Given the description of an element on the screen output the (x, y) to click on. 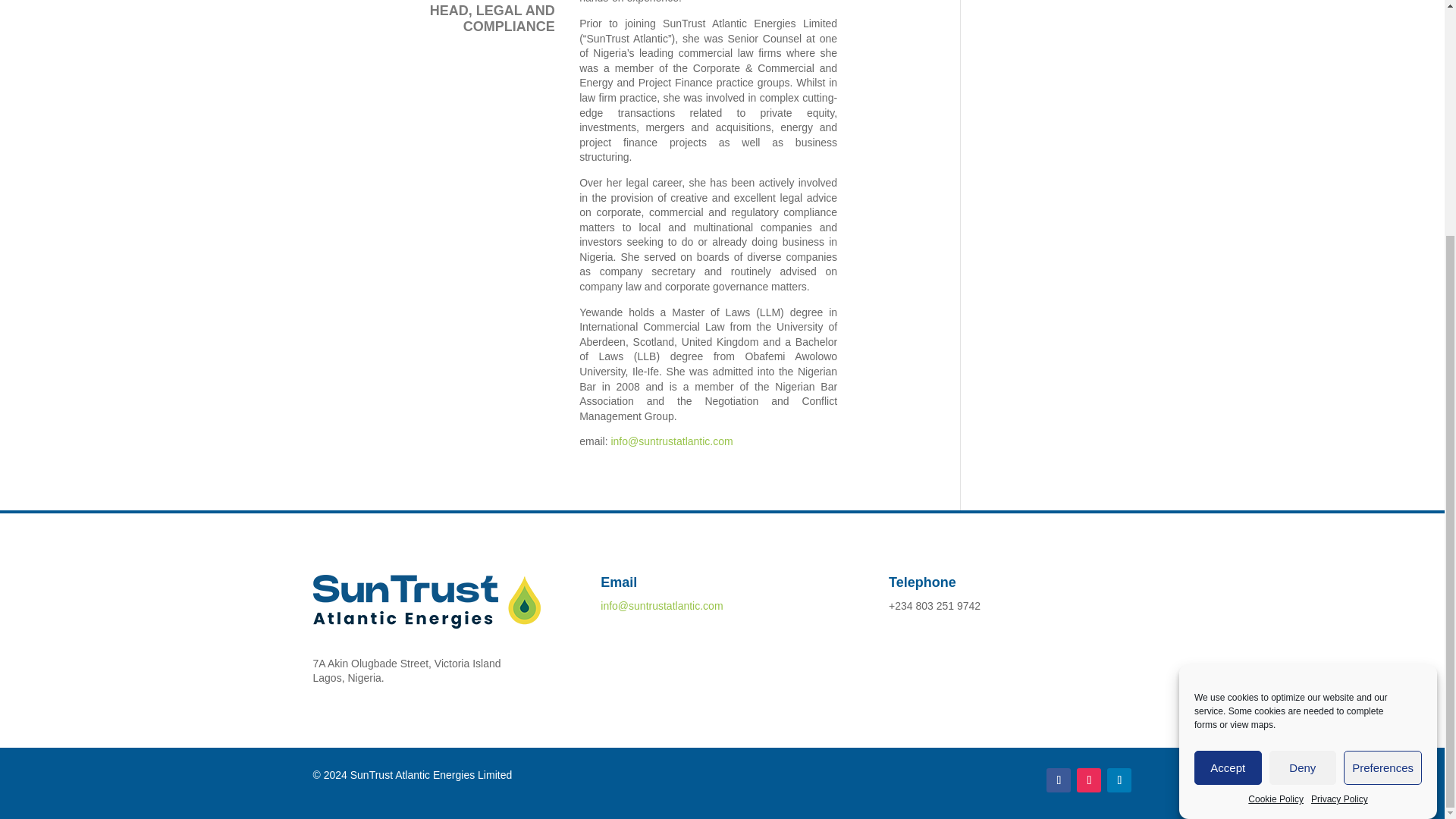
Cookie Policy (1275, 493)
Follow on Facebook (1058, 780)
Privacy Policy (1339, 485)
Preferences (1382, 521)
Follow on LinkedIn (1118, 780)
Follow on Instagram (1088, 780)
